Given the description of an element on the screen output the (x, y) to click on. 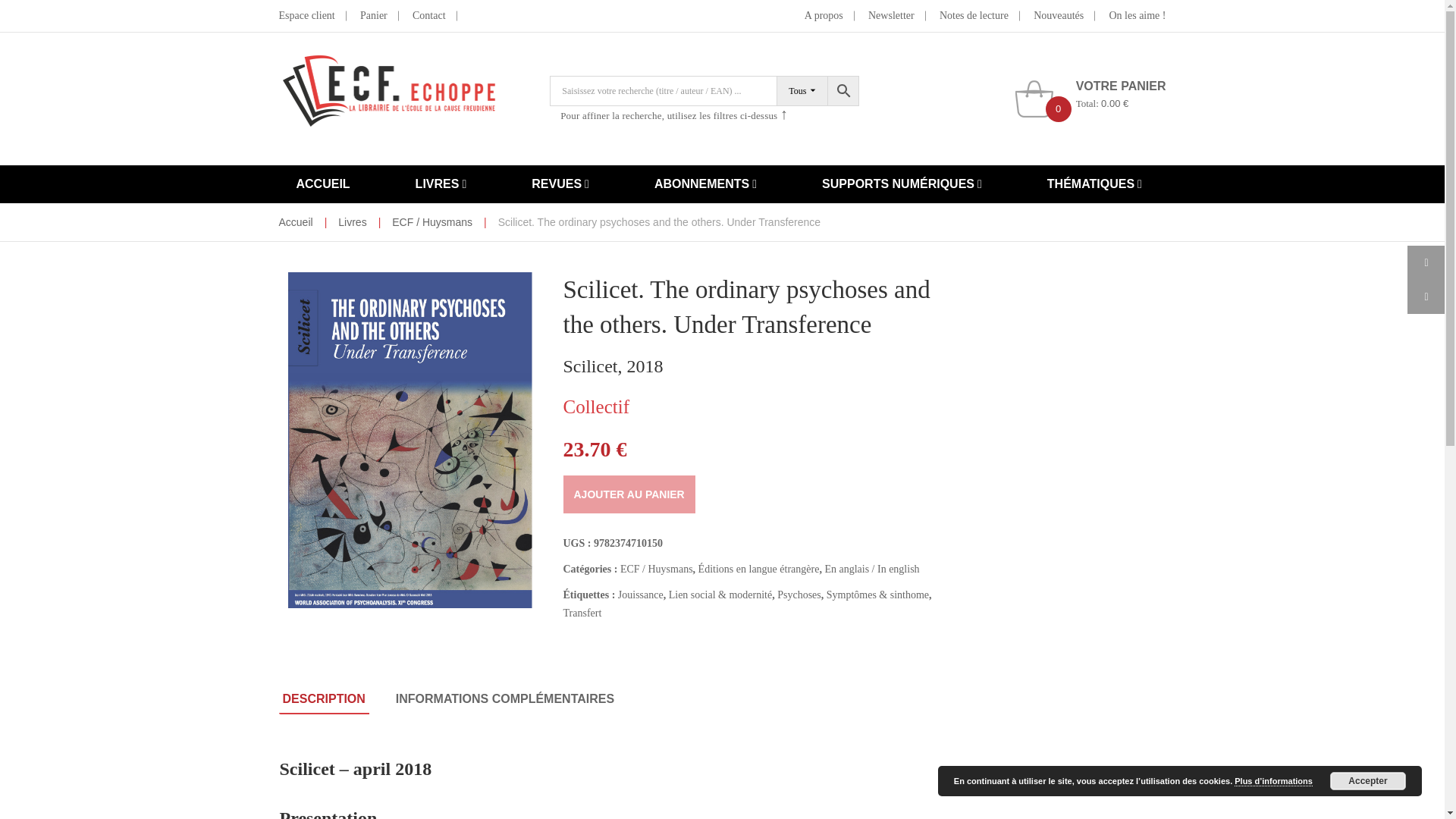
Espace client (306, 15)
ACCUEIL (322, 184)
On les aime ! (1137, 15)
REVUES (560, 184)
Contact (428, 15)
Notes de lecture (974, 15)
LIVRES (440, 184)
A propos (824, 15)
Newsletter (890, 15)
